Given the description of an element on the screen output the (x, y) to click on. 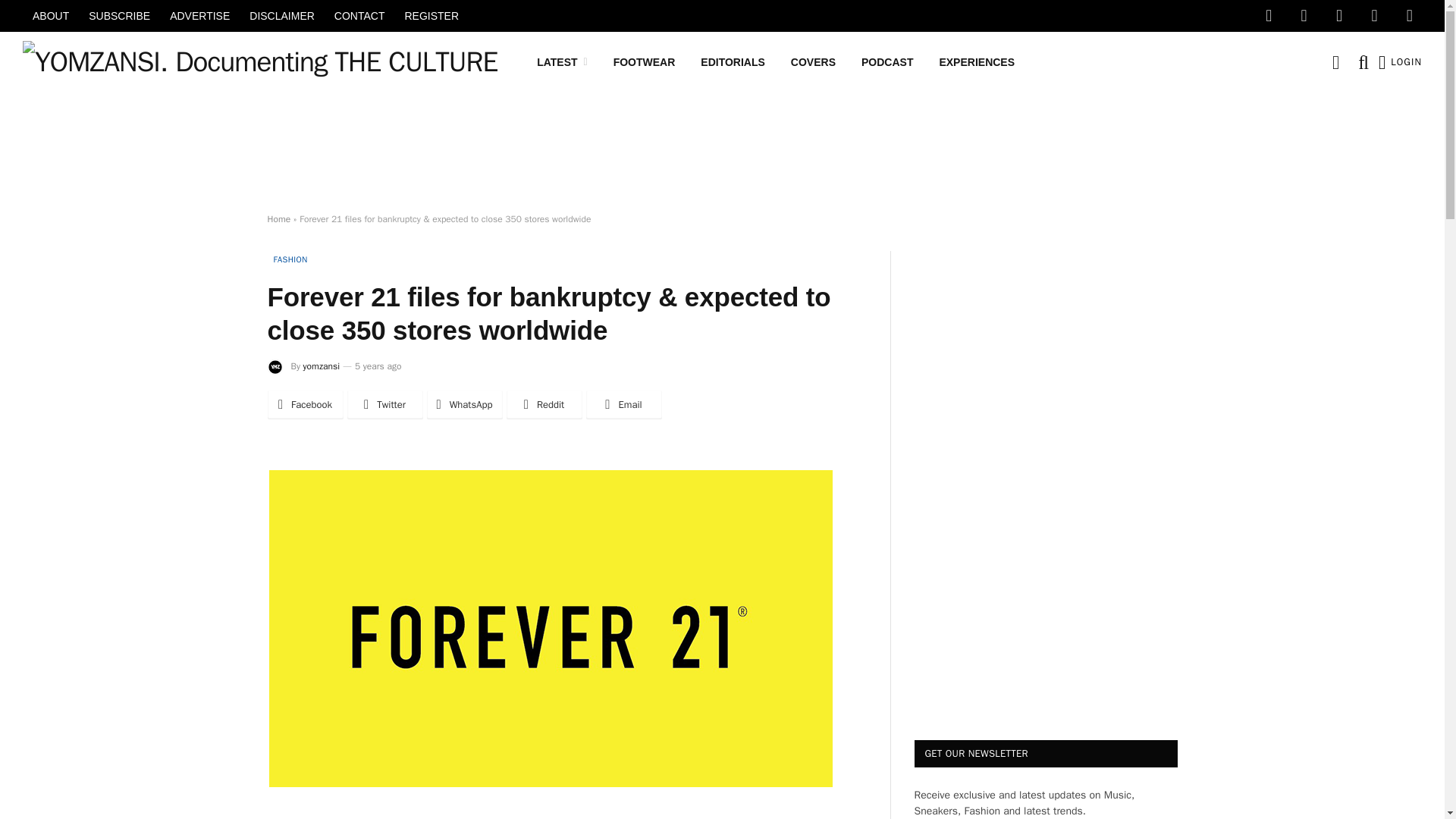
Share on Reddit (544, 404)
LATEST (561, 61)
CONTACT (359, 15)
ABOUT (50, 15)
Switch to Dark Design - easier on eyes. (1335, 62)
Share via Email (623, 404)
YOMZANSI. Documenting THE CULTURE (260, 61)
ADVERTISE (200, 15)
Share on Facebook (304, 404)
Posts by yomzansi (320, 366)
